Given the description of an element on the screen output the (x, y) to click on. 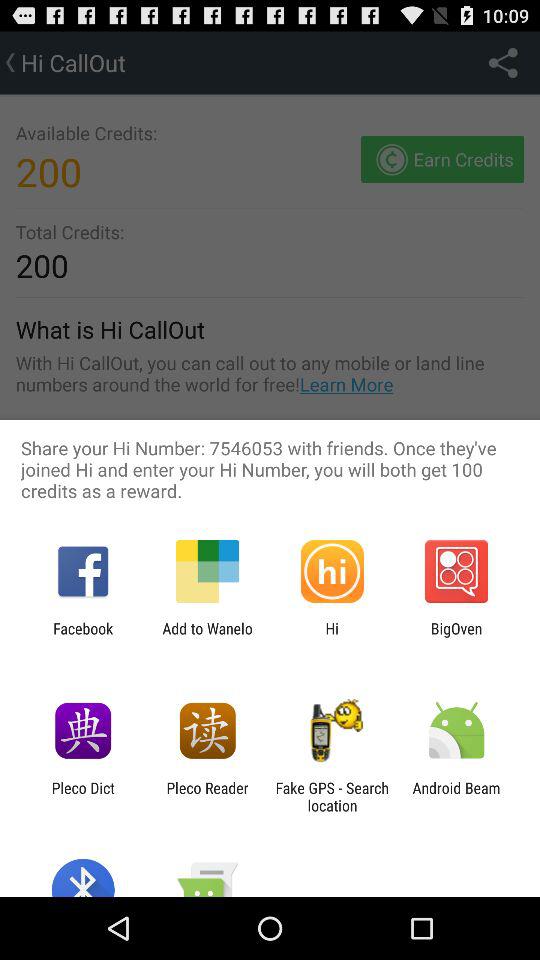
flip until the android beam item (456, 796)
